Given the description of an element on the screen output the (x, y) to click on. 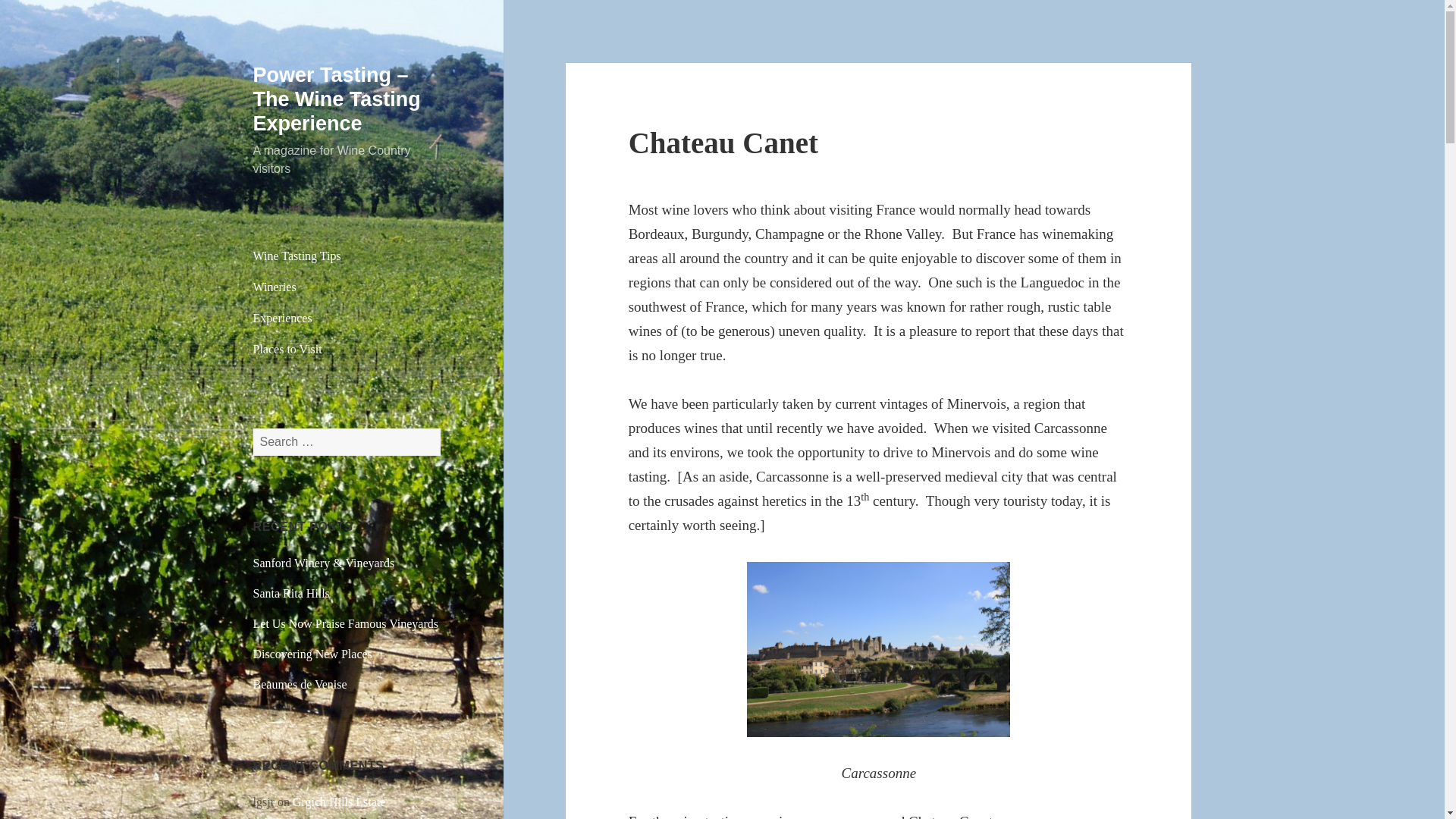
Experiences (347, 318)
Places to Visit (347, 349)
Wineries (347, 286)
Santa Rita Hills (291, 593)
Beaumes de Venise (300, 684)
Let Us Now Praise Famous Vineyards (346, 623)
Grgich Hills Estate (338, 801)
